Given the description of an element on the screen output the (x, y) to click on. 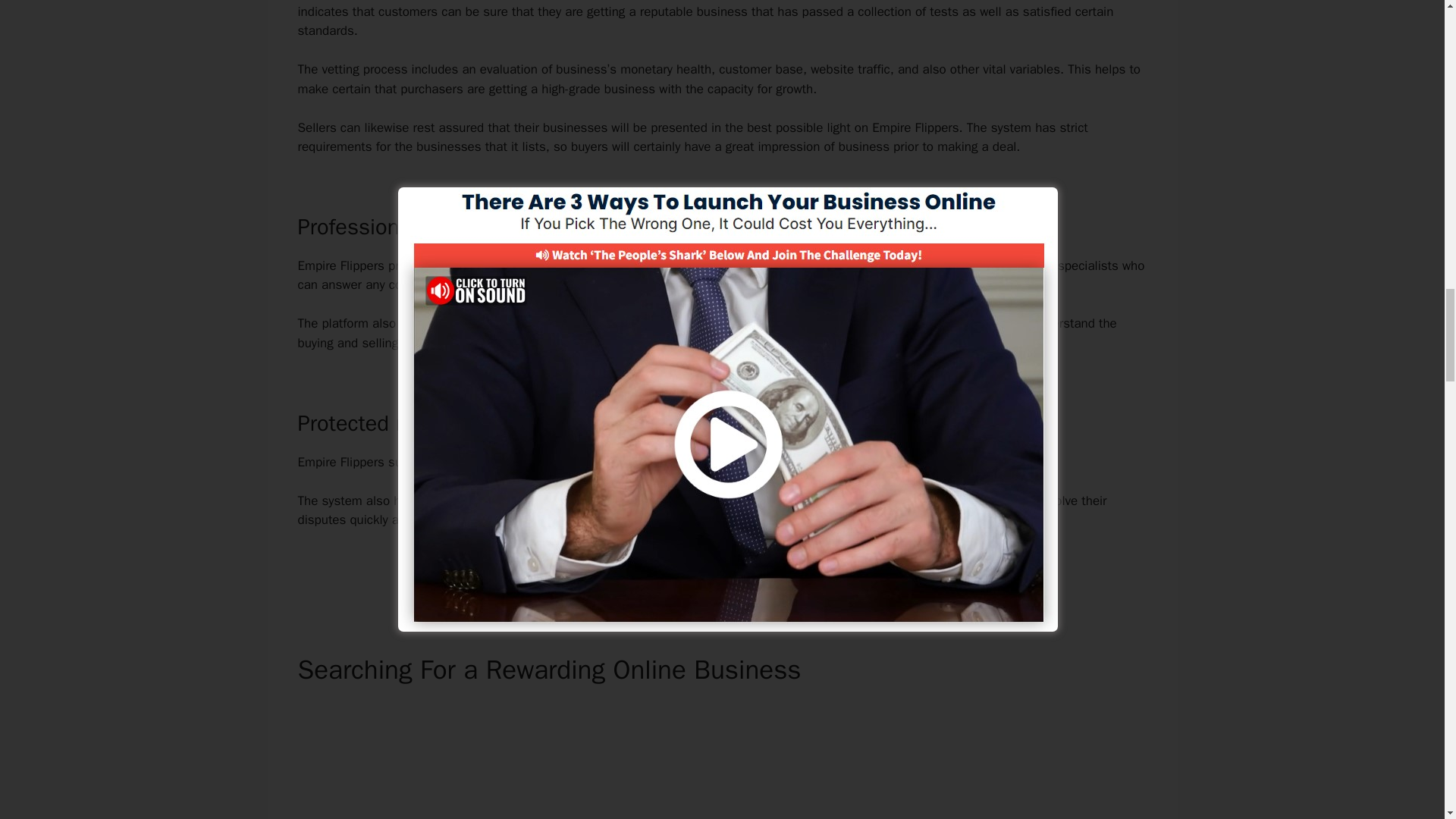
Find Your Dream Online Business Now (722, 571)
